Given the description of an element on the screen output the (x, y) to click on. 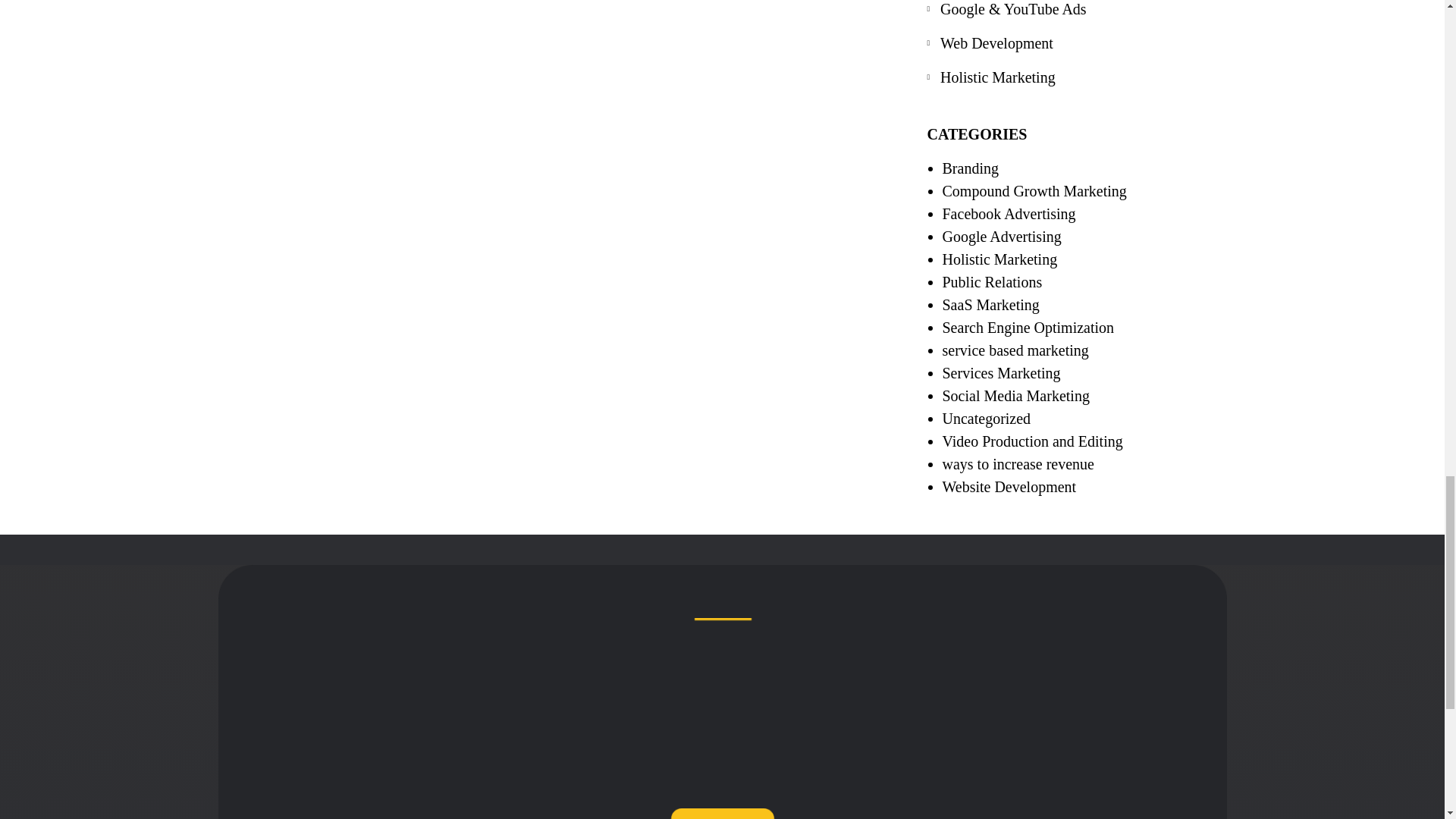
service based marketing (1014, 350)
Search Engine Optimization (1027, 327)
Services Marketing (1000, 372)
Compound Growth Marketing (1033, 190)
Facebook Advertising (1008, 213)
Public Relations (992, 281)
Branding (969, 167)
SaaS Marketing (990, 304)
Social Media Marketing (1015, 395)
Holistic Marketing (1079, 77)
